Given the description of an element on the screen output the (x, y) to click on. 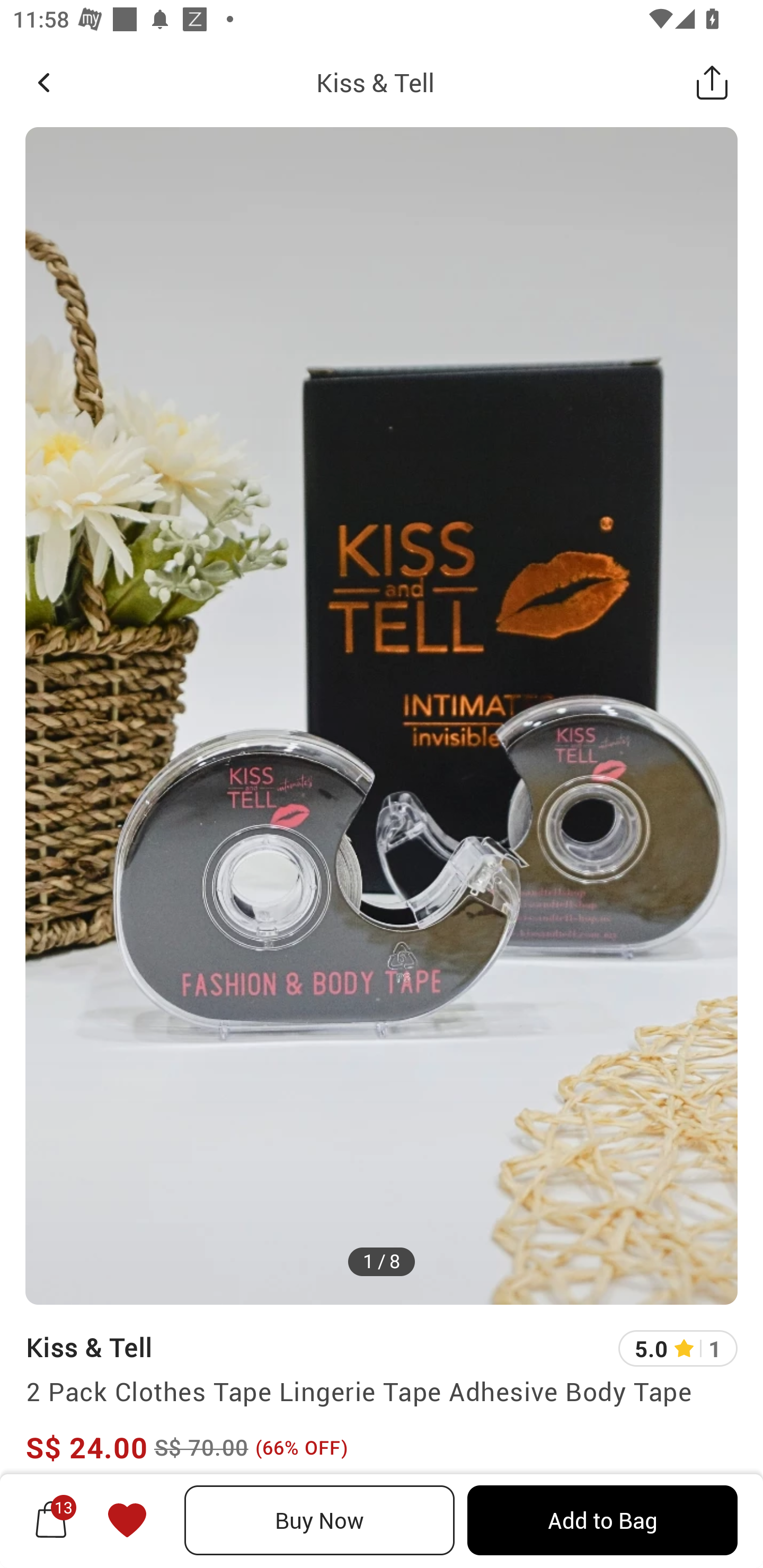
Kiss & Tell (375, 82)
Share this Product (711, 82)
Kiss & Tell (88, 1346)
5.0 1 (677, 1348)
Buy Now (319, 1519)
Add to Bag (601, 1519)
13 (50, 1520)
